Given the description of an element on the screen output the (x, y) to click on. 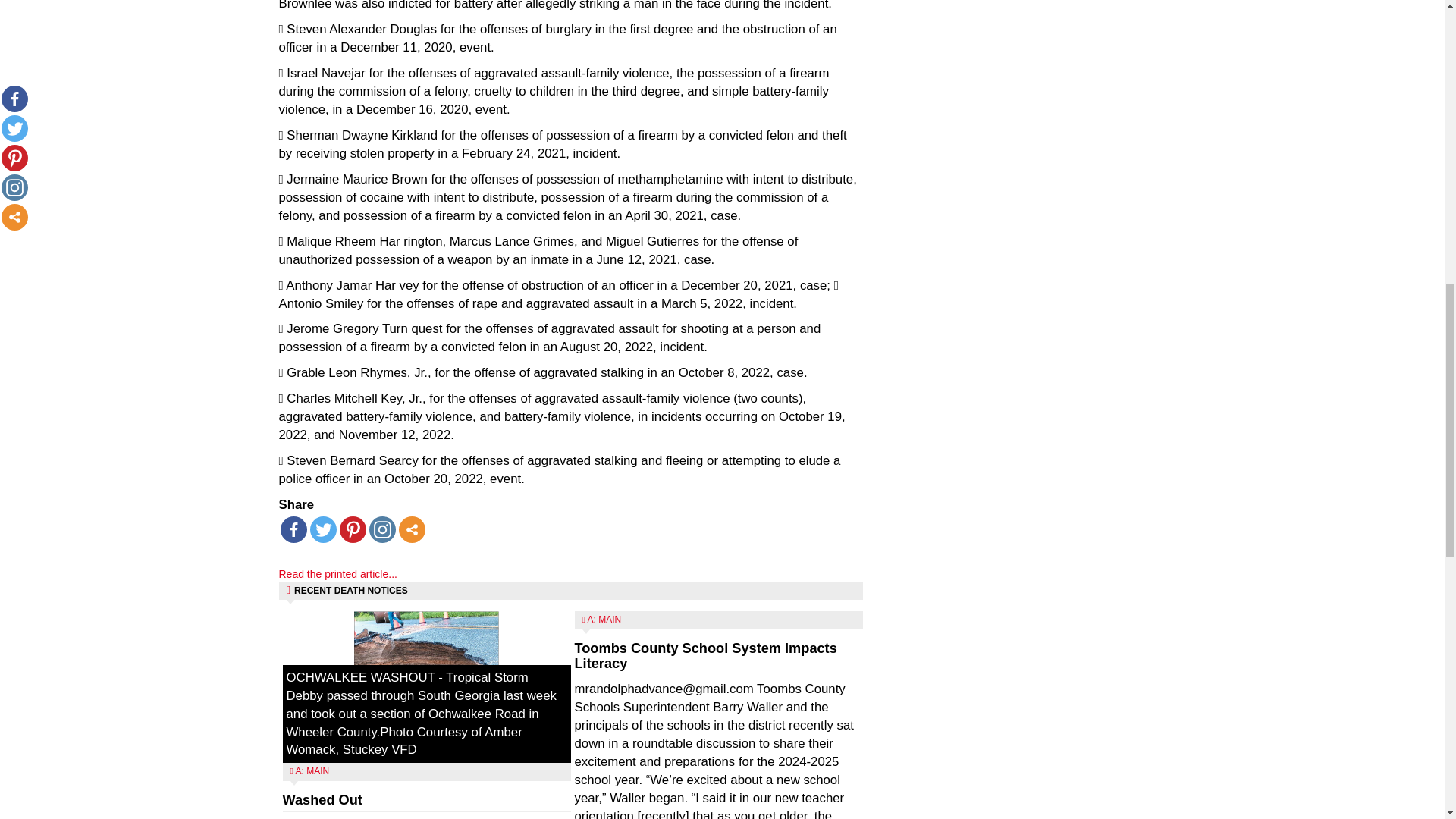
Facebook (294, 529)
Pinterest (352, 529)
Washed Out (321, 799)
Read the printed article... (338, 573)
Instagram (381, 529)
A: MAIN (312, 770)
Twitter (322, 529)
More (411, 529)
